Given the description of an element on the screen output the (x, y) to click on. 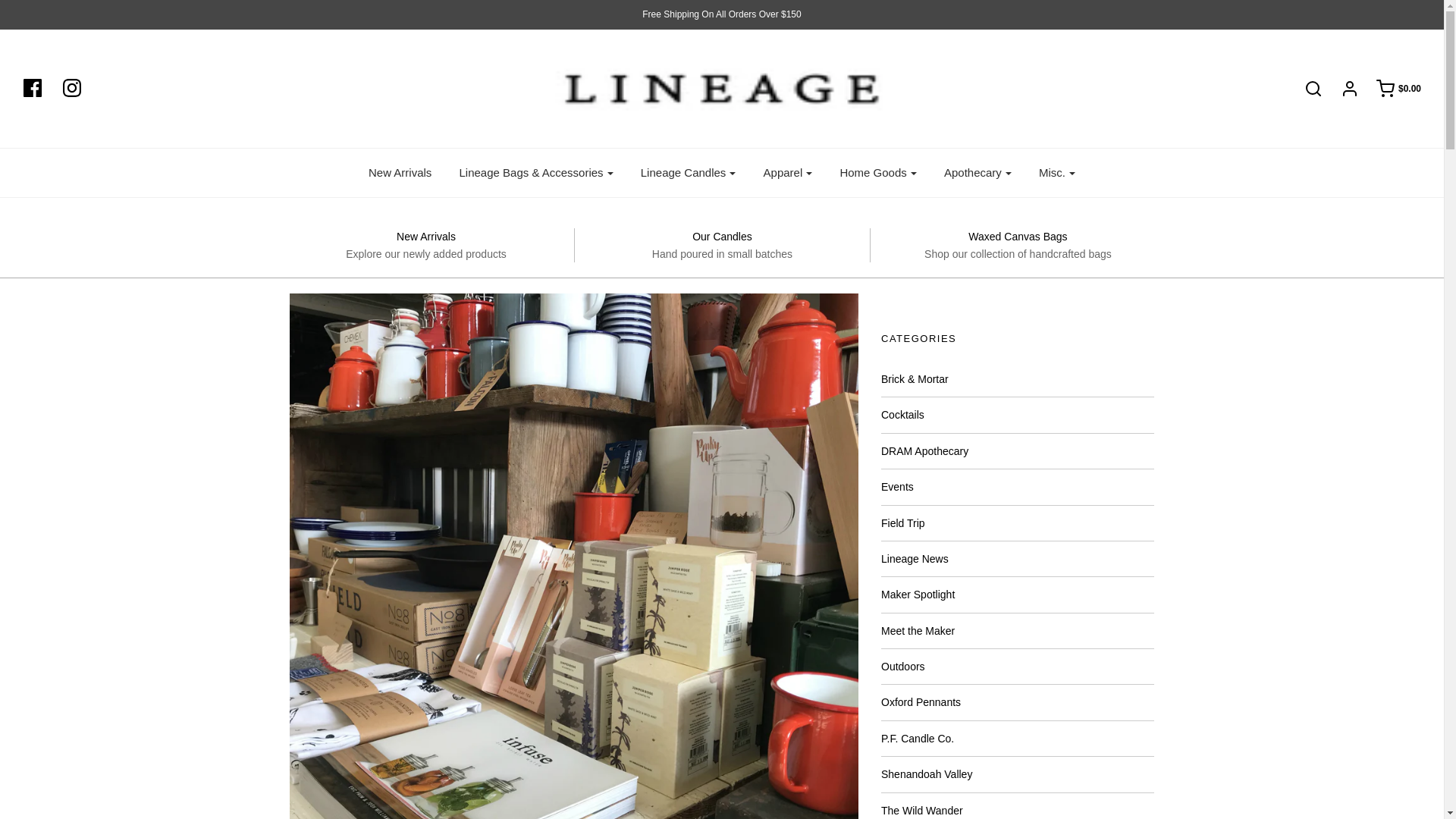
Cart (1391, 88)
Show articles tagged Cocktails (902, 414)
Facebook icon (32, 87)
Search (1305, 88)
Search (1101, 1)
Show articles tagged Events (897, 486)
Show articles tagged DRAM Apothecary (924, 451)
Show articles tagged Field Trip (902, 522)
Instagram icon (71, 87)
Log in (1341, 88)
